Given the description of an element on the screen output the (x, y) to click on. 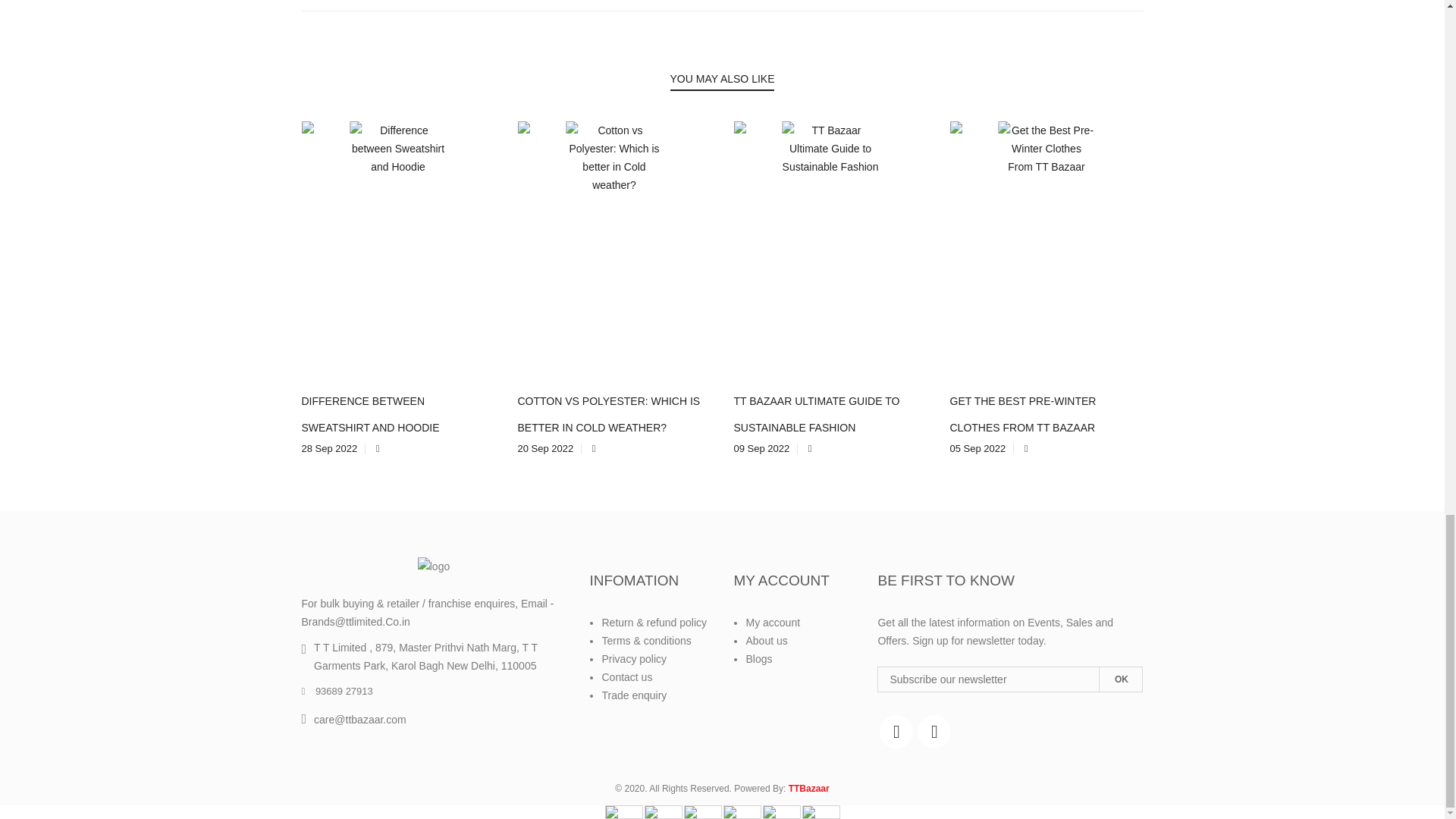
93689 27913 (336, 691)
T T Bazaar on Facebook (895, 731)
T T Bazaar on Instagram (933, 731)
DIFFERENCE BETWEEN SWEATSHIRT AND HOODIE (370, 414)
COTTON VS POLYESTER: WHICH IS BETTER IN COLD WEATHER? (608, 414)
Contact us (626, 676)
TT BAZAAR ULTIMATE GUIDE TO SUSTAINABLE FASHION (816, 414)
My account (772, 622)
Trade enquiry (633, 695)
GET THE BEST PRE-WINTER CLOTHES FROM TT BAZAAR (1022, 414)
OK (1120, 679)
Privacy policy (633, 658)
